Given the description of an element on the screen output the (x, y) to click on. 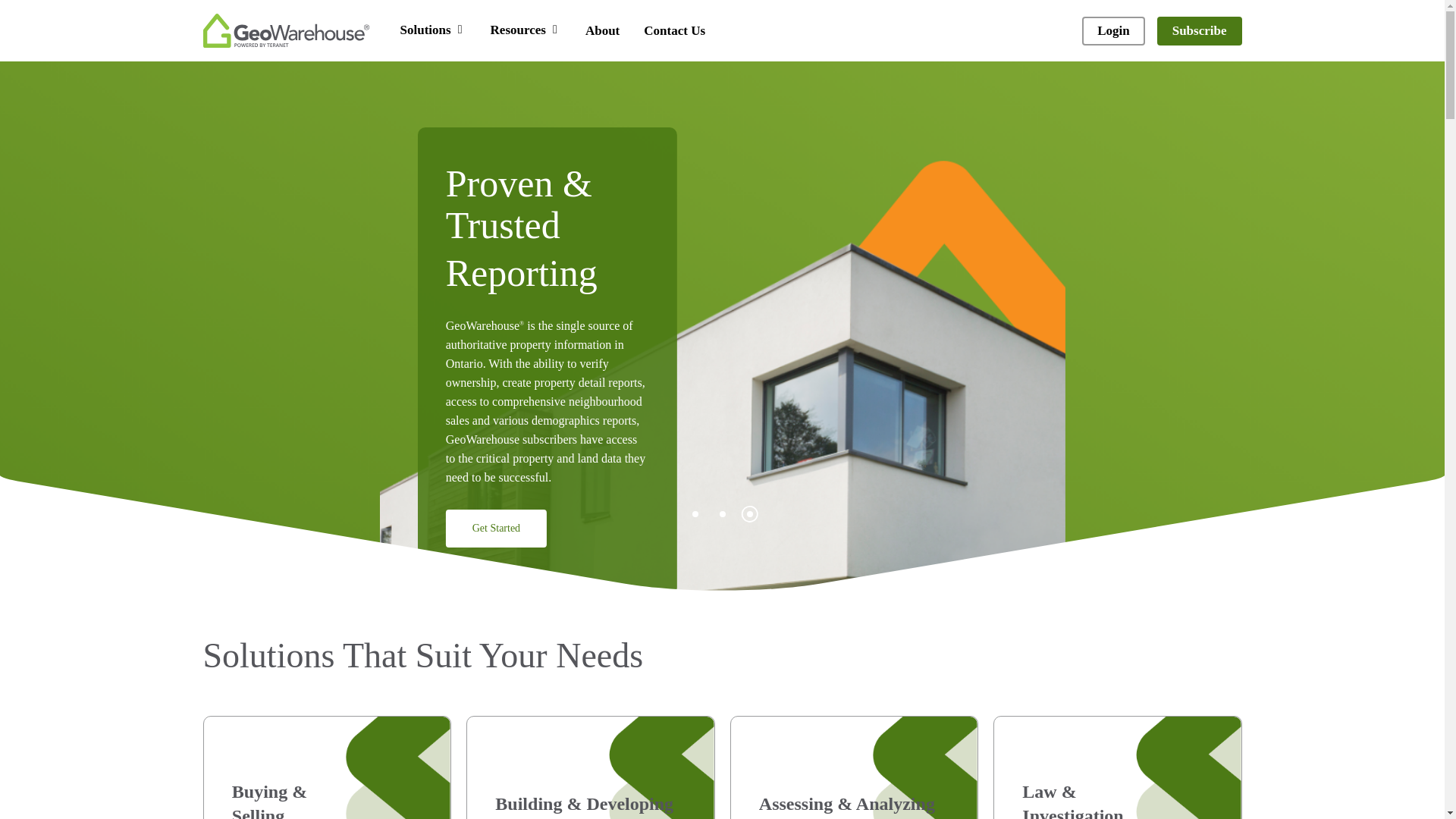
Solutions (432, 30)
Resources (525, 30)
